Given the description of an element on the screen output the (x, y) to click on. 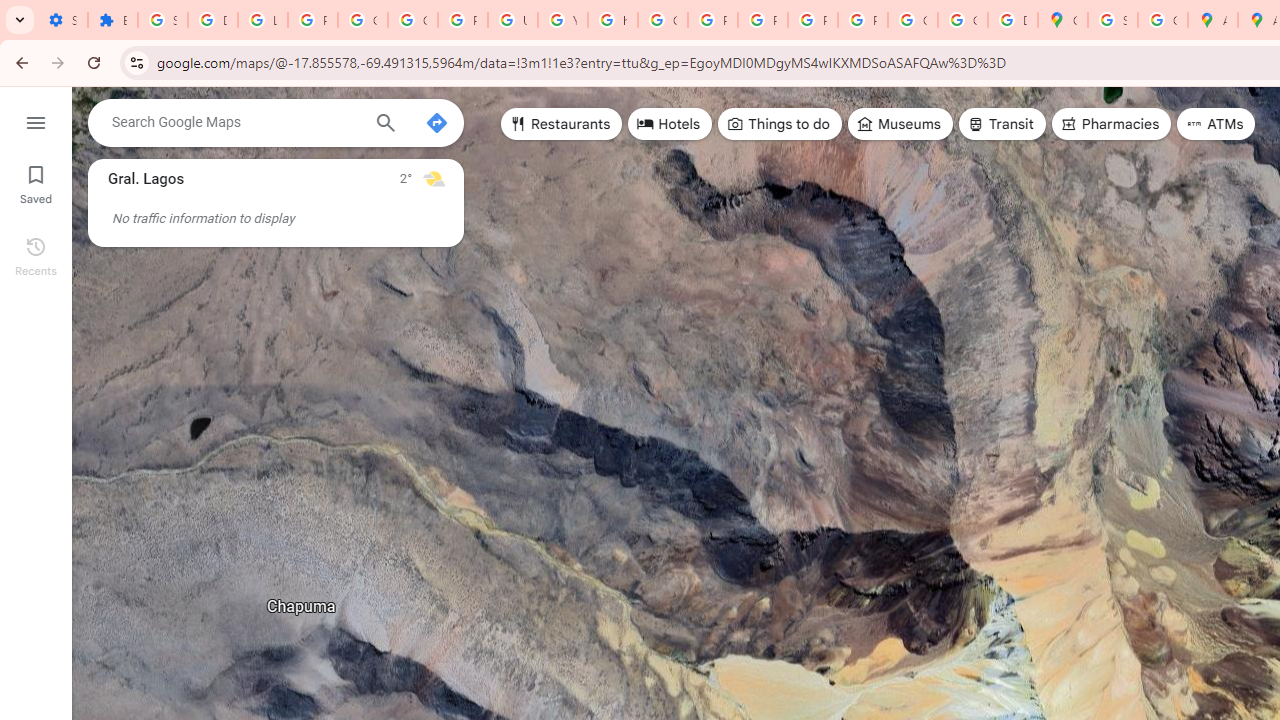
Directions (436, 122)
Search (385, 125)
Saved (35, 182)
Sign in - Google Accounts (163, 20)
Museums (900, 124)
Google Maps (1062, 20)
Settings - On startup (62, 20)
Menu (35, 120)
Extensions (113, 20)
Google Account Help (412, 20)
Privacy Help Center - Policies Help (712, 20)
